Given the description of an element on the screen output the (x, y) to click on. 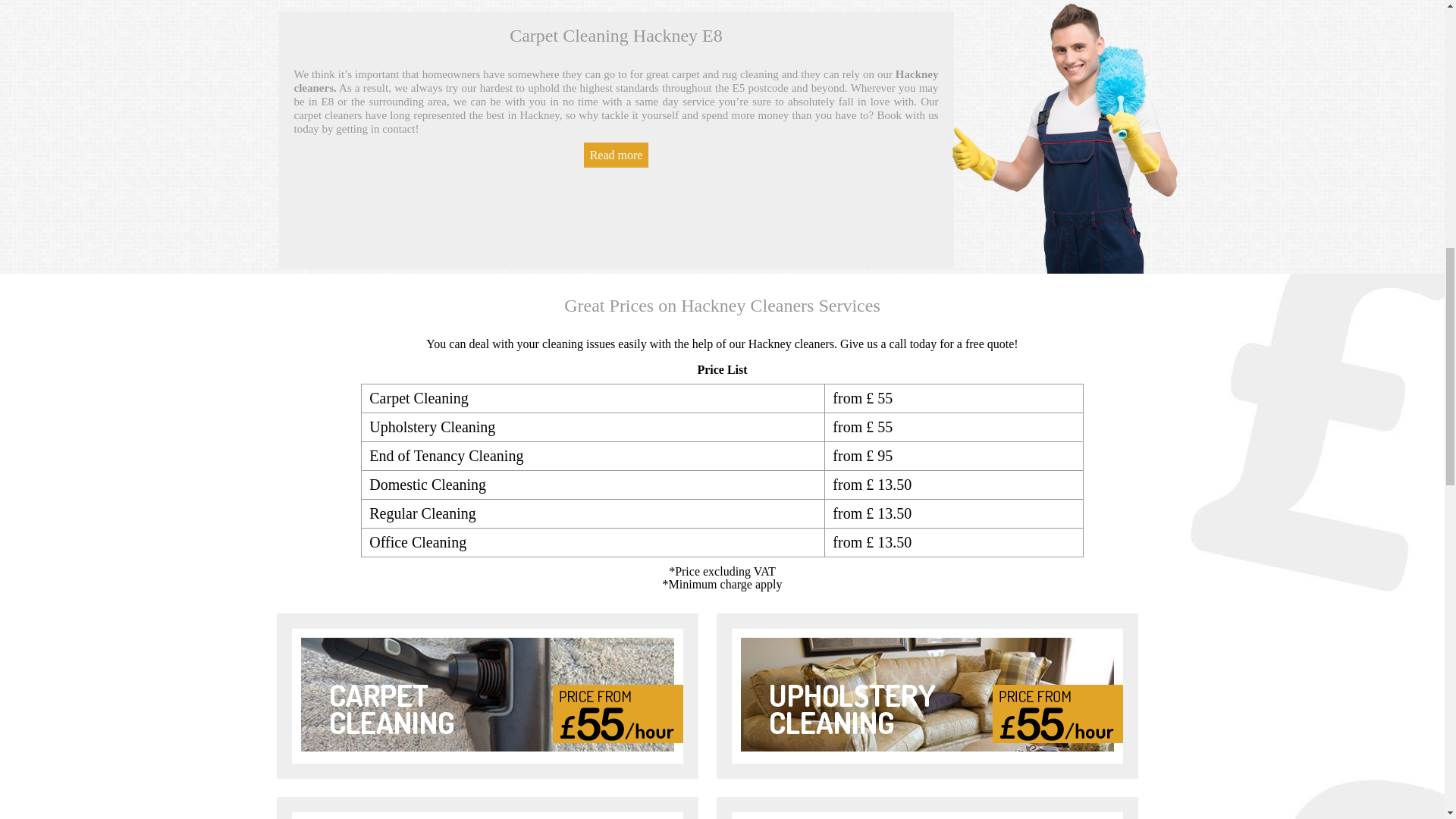
Read more (616, 154)
